Given the description of an element on the screen output the (x, y) to click on. 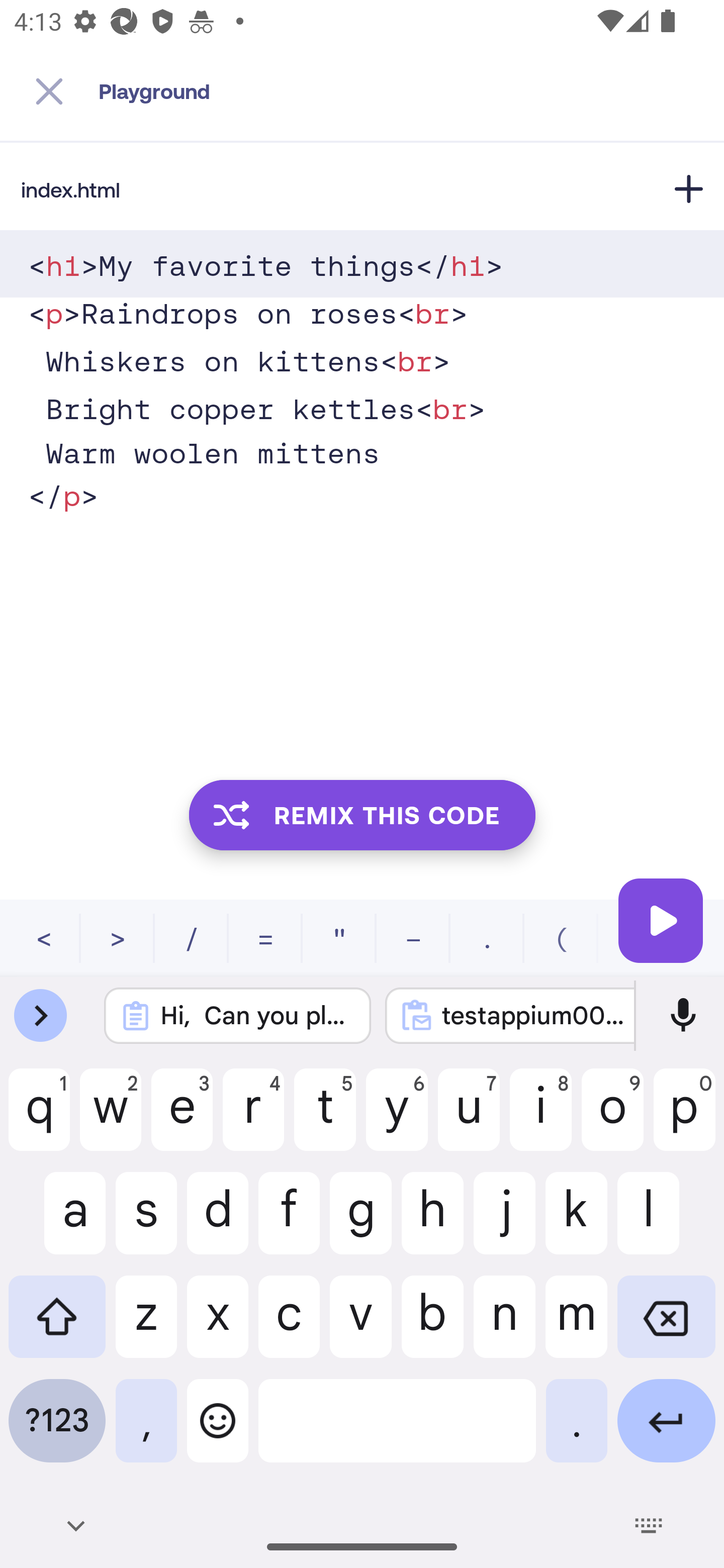
Navigate up (49, 91)
Playground (411, 91)
REMIX THIS CODE (361, 814)
Run (660, 920)
< (44, 938)
> (117, 938)
/ (191, 938)
= (265, 938)
" (339, 938)
- (413, 938)
. (487, 938)
( (561, 938)
